Given the description of an element on the screen output the (x, y) to click on. 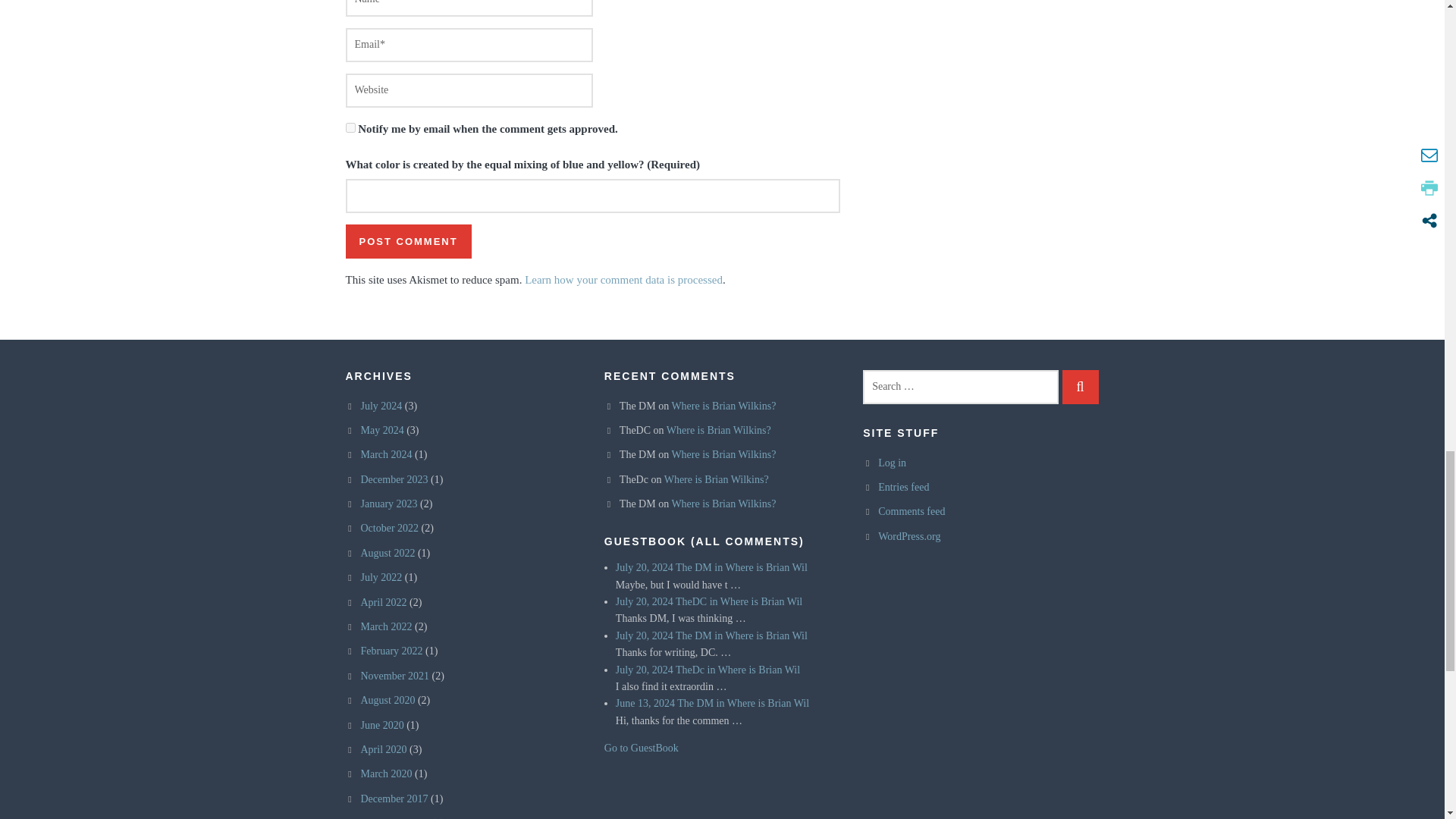
Date of comment: July 20, 2024 (645, 567)
Post Comment (408, 241)
Comment author: The DM (693, 567)
1 (350, 127)
Page of comment: Where is Brian Wilkins? (759, 567)
Post Comment (408, 241)
Learn how your comment data is processed (623, 279)
